Given the description of an element on the screen output the (x, y) to click on. 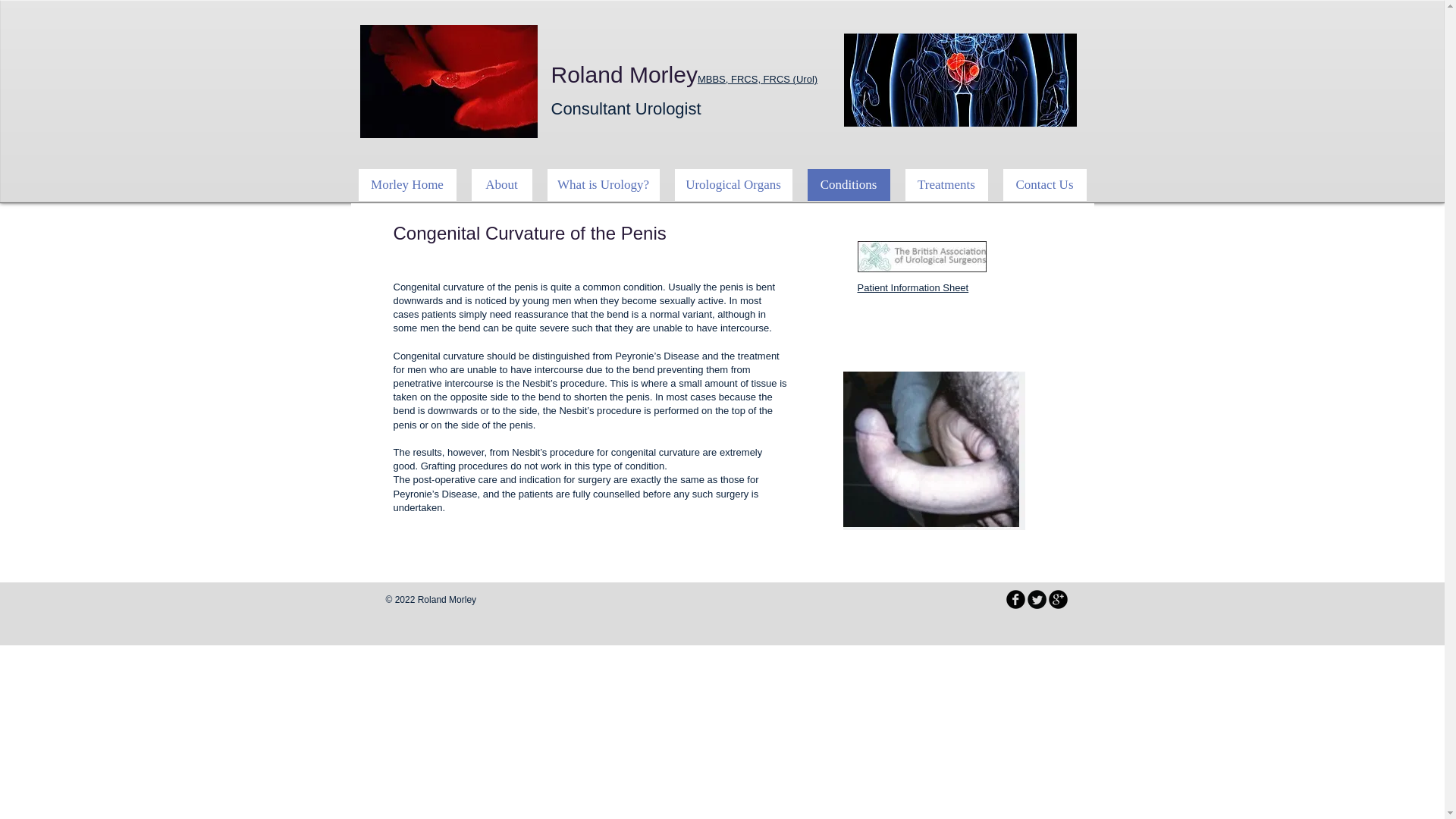
slideurinaryinfection.jpg (959, 79)
About (625, 102)
curvature 2.jpg (501, 184)
What is Urology? (934, 450)
Roland Morley (603, 184)
Morley Home (623, 74)
Conditions (406, 184)
Urological Organs (847, 184)
